Given the description of an element on the screen output the (x, y) to click on. 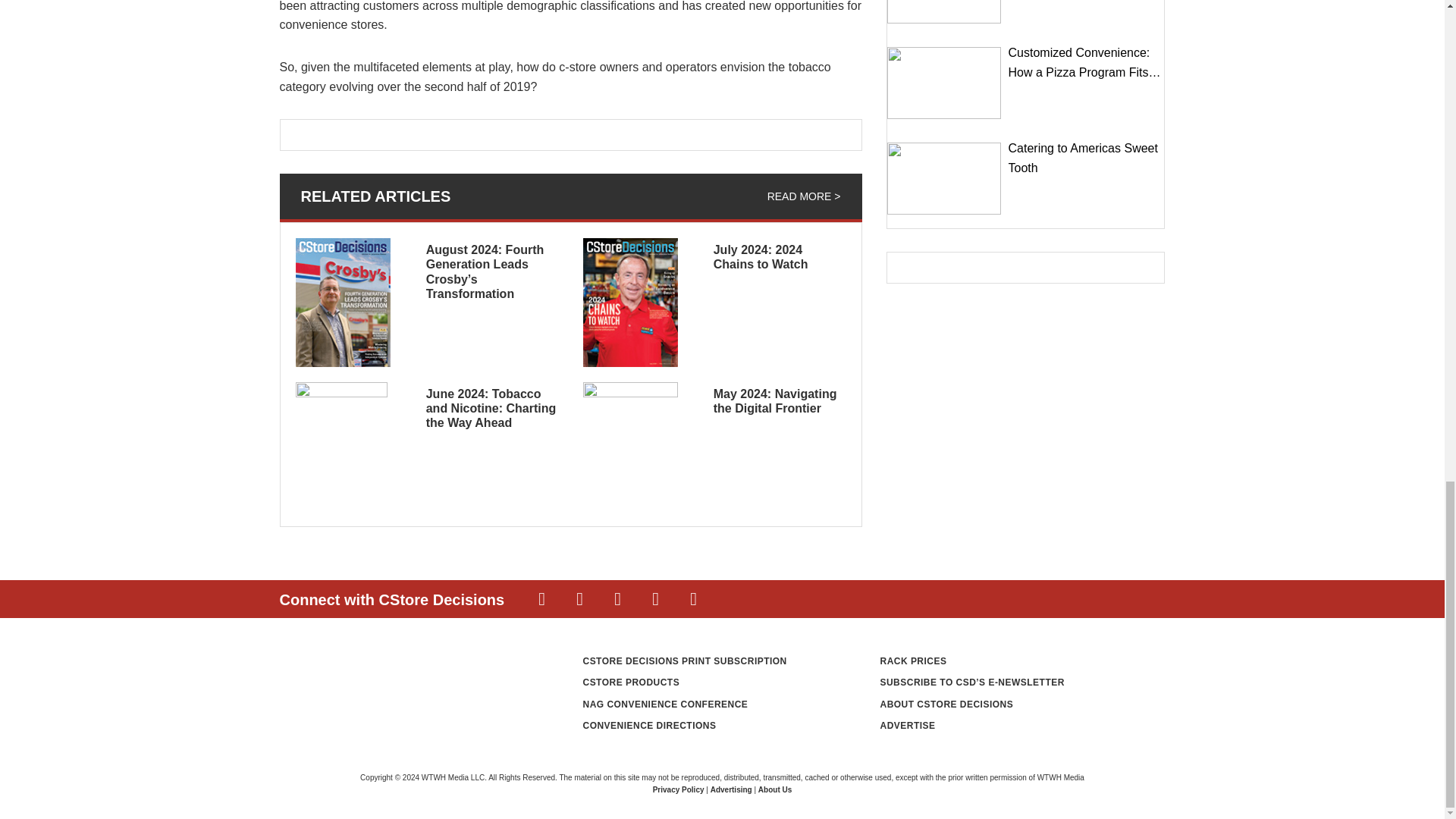
Catering to Americas Sweet Tooth (943, 178)
How This Chain Eliminated 25 Percent of Inventory Lag (943, 11)
